Given the description of an element on the screen output the (x, y) to click on. 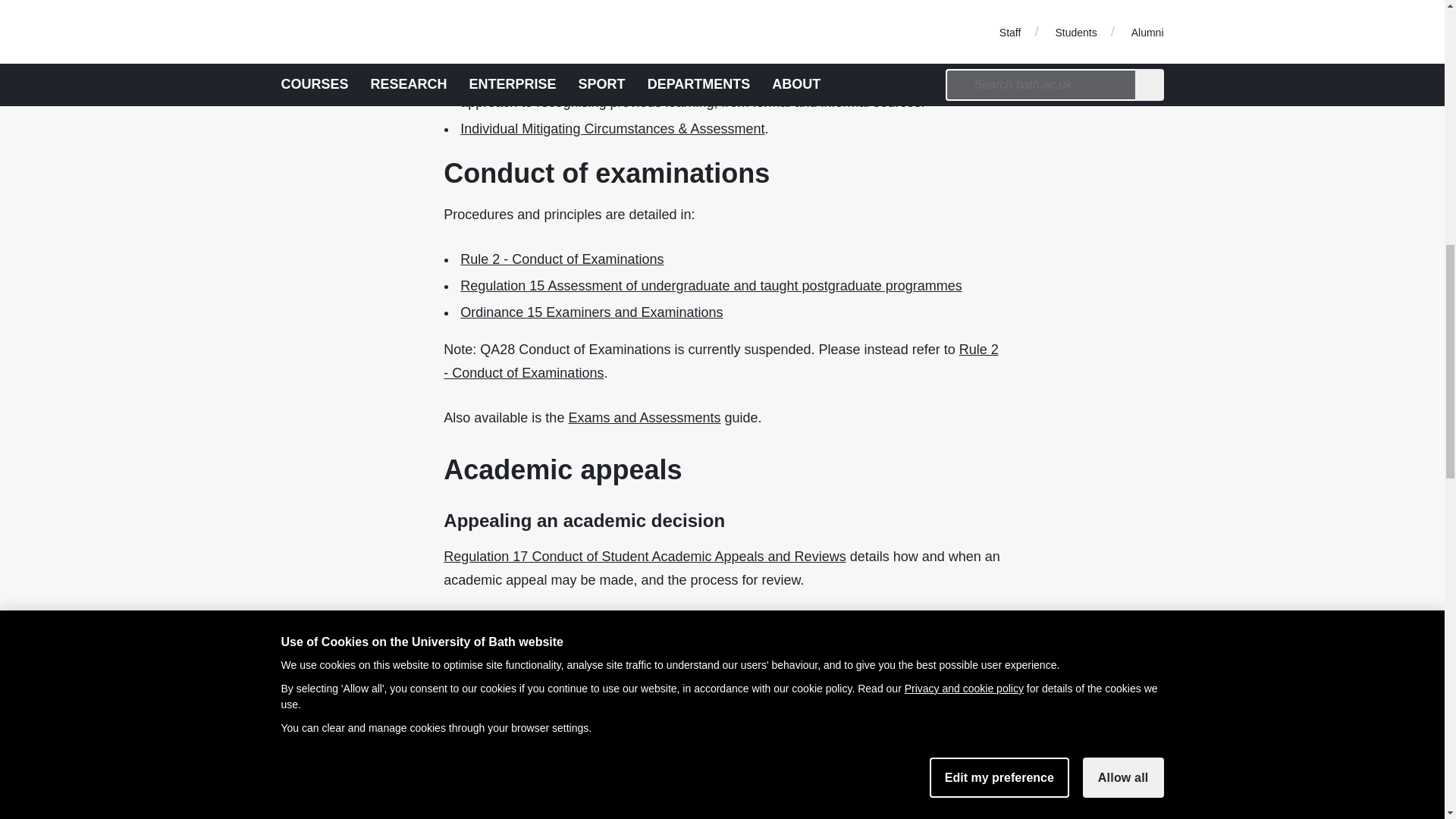
QA7 Research Degrees (532, 28)
